Given the description of an element on the screen output the (x, y) to click on. 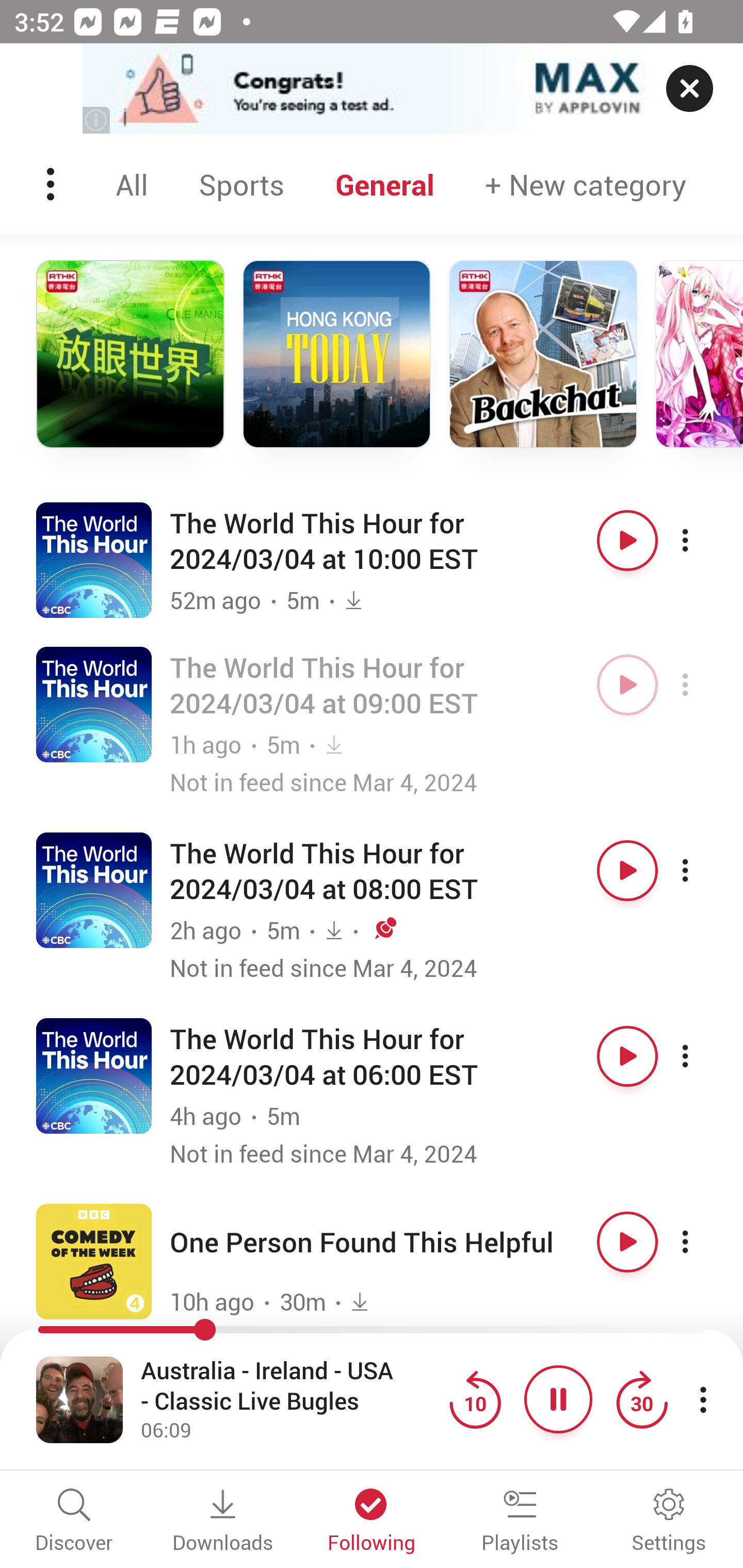
app-monetization (371, 88)
(i) (96, 119)
Menu (52, 184)
All (131, 184)
Sports (241, 184)
General (384, 184)
New category + New category (585, 184)
放眼世界 (130, 354)
Hong Kong Today (336, 354)
Backchat (542, 354)
Play button (627, 540)
More options (703, 540)
Open series The World This Hour (93, 559)
Play button (627, 685)
More options (703, 685)
Open series The World This Hour (93, 704)
Play button (627, 871)
More options (703, 871)
Open series The World This Hour (93, 890)
Play button (627, 1056)
More options (703, 1056)
Open series The World This Hour (93, 1075)
Play button (627, 1241)
More options (703, 1241)
Open series Comedy of the Week (93, 1261)
Open fullscreen player (79, 1399)
More player controls (703, 1399)
Australia - Ireland - USA - Classic Live Bugles (290, 1385)
Pause button (558, 1398)
Jump back (475, 1399)
Jump forward (641, 1399)
Discover (74, 1521)
Downloads (222, 1521)
Following (371, 1521)
Playlists (519, 1521)
Settings (668, 1521)
